Given the description of an element on the screen output the (x, y) to click on. 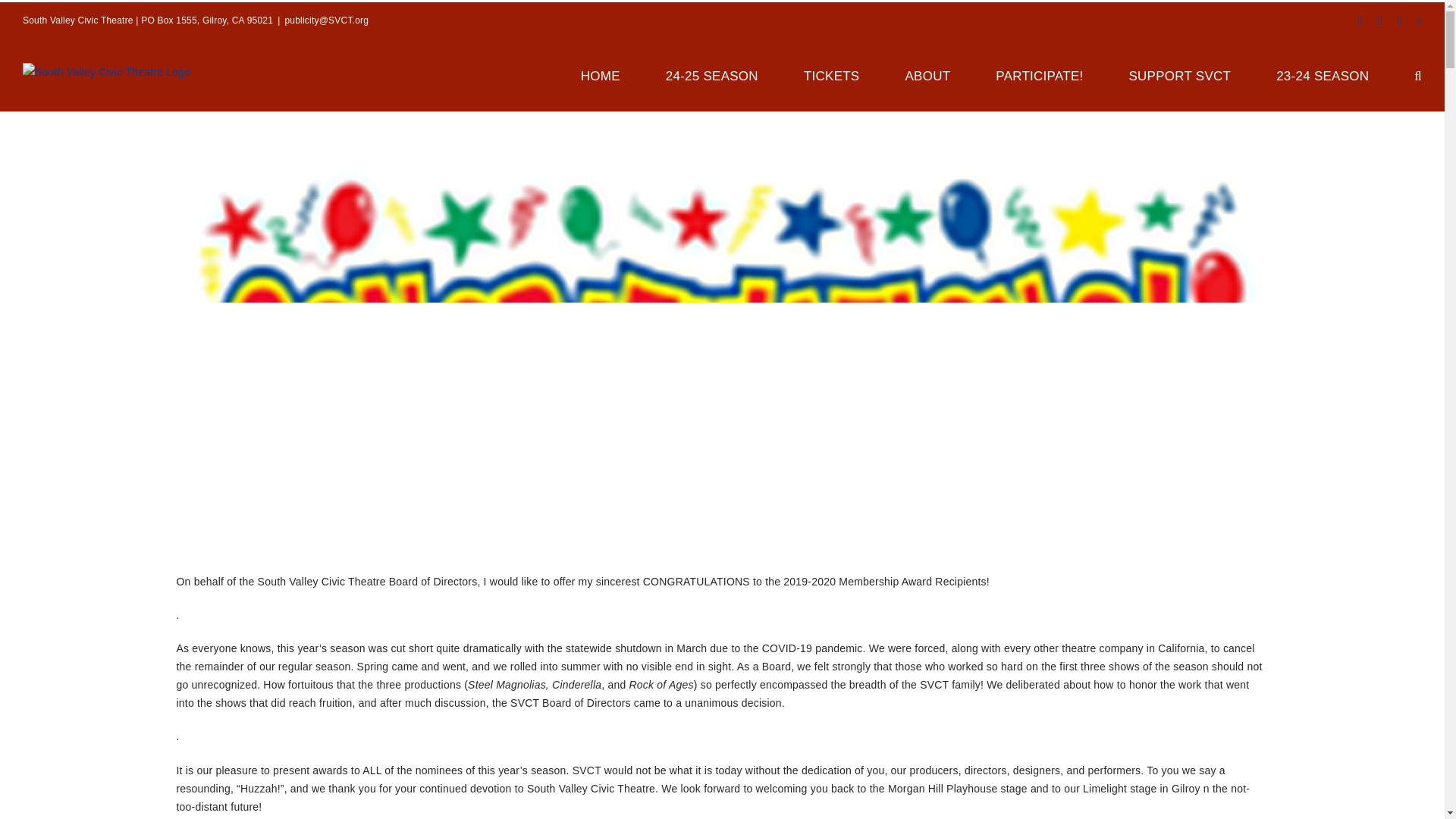
SUPPORT SVCT (1179, 74)
23-24 SEASON (1322, 74)
24-25 SEASON (711, 74)
PARTICIPATE! (1039, 74)
